Given the description of an element on the screen output the (x, y) to click on. 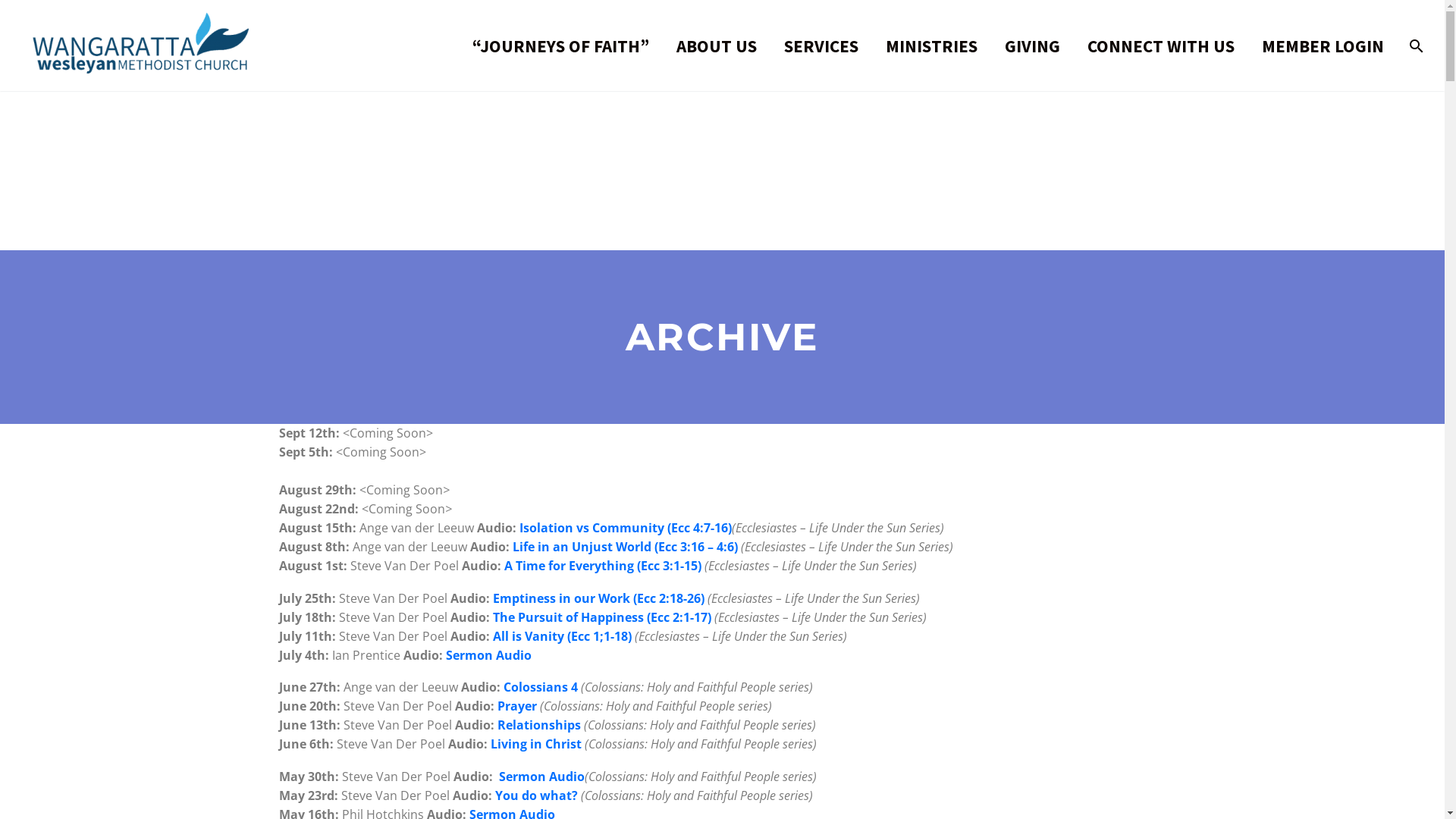
Sermon Audio Element type: text (488, 654)
CONNECT WITH US Element type: text (1160, 45)
The Pursuit of Happiness (Ecc 2:1-17) Element type: text (601, 616)
MINISTRIES Element type: text (931, 45)
SERVICES Element type: text (820, 45)
A Time for Everything (Ecc 3:1-15) Element type: text (601, 565)
Emptiness in our Work (Ecc 2:18-26) Element type: text (598, 597)
Isolation vs Community (Ecc 4:7-16) Element type: text (624, 527)
All is Vanity (Ecc 1;1-18) Element type: text (561, 635)
Relationships Element type: text (538, 724)
MEMBER LOGIN Element type: text (1322, 45)
GIVING Element type: text (1032, 45)
Prayer Element type: text (516, 705)
ABOUT US Element type: text (716, 45)
You do what? Element type: text (535, 795)
Living in Christ Element type: text (534, 743)
Colossians 4 Element type: text (540, 686)
Sermon Audio Element type: text (541, 776)
